Given the description of an element on the screen output the (x, y) to click on. 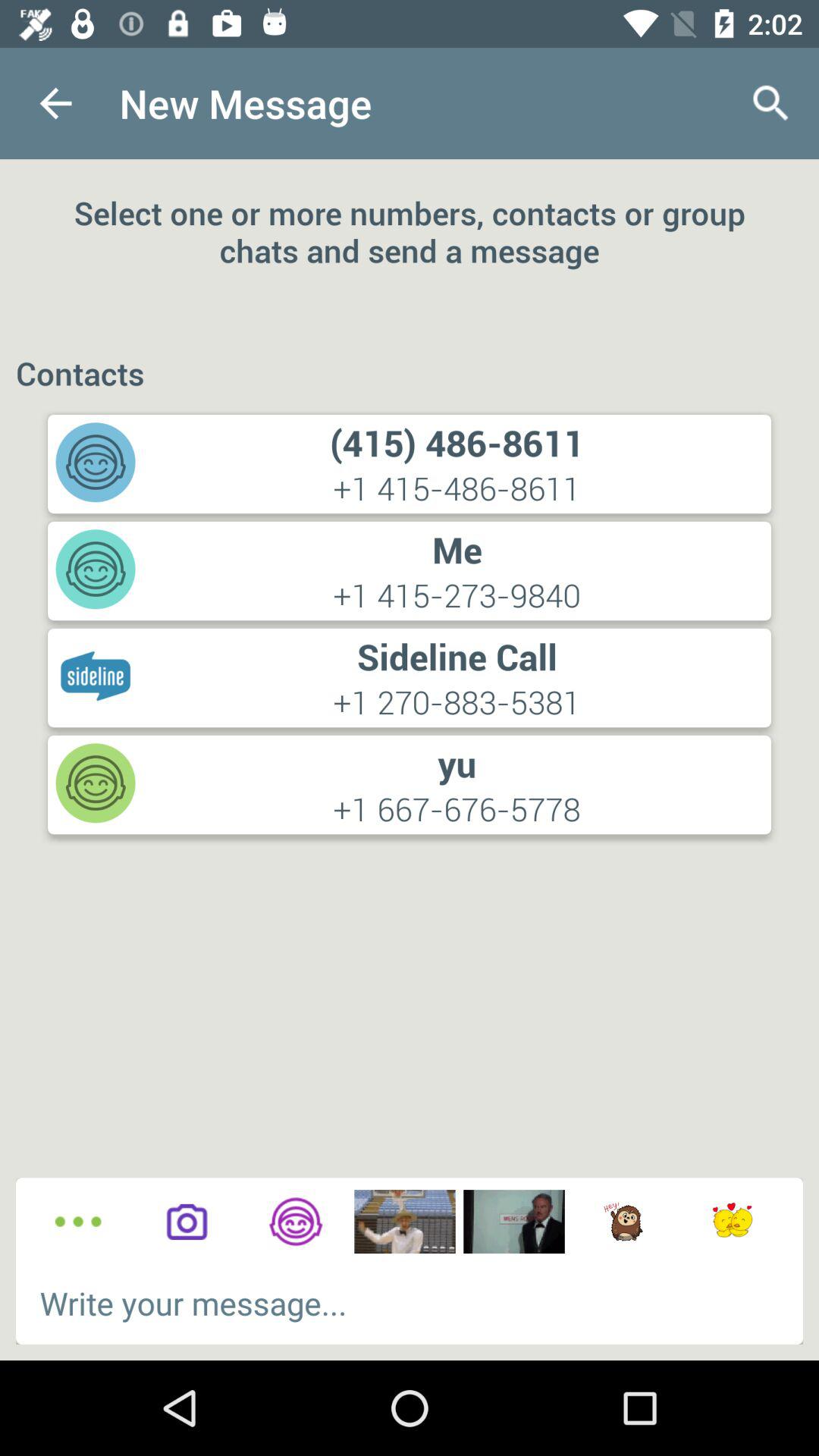
click the icon to the left of new message (55, 103)
